Given the description of an element on the screen output the (x, y) to click on. 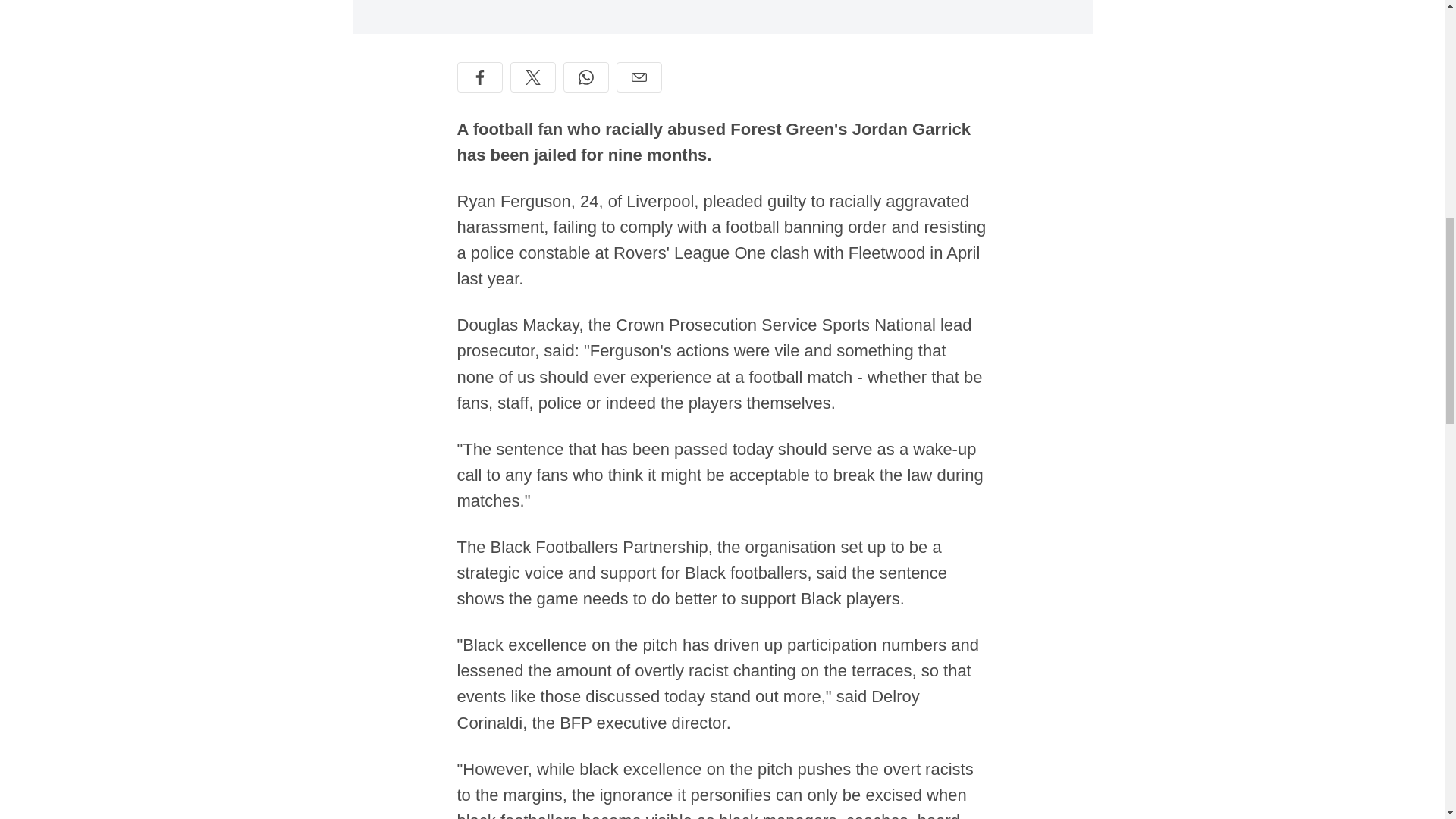
Share on X (531, 77)
Share on WhatsApp (585, 77)
Share on Facebook (479, 77)
Share by email (638, 77)
